Given the description of an element on the screen output the (x, y) to click on. 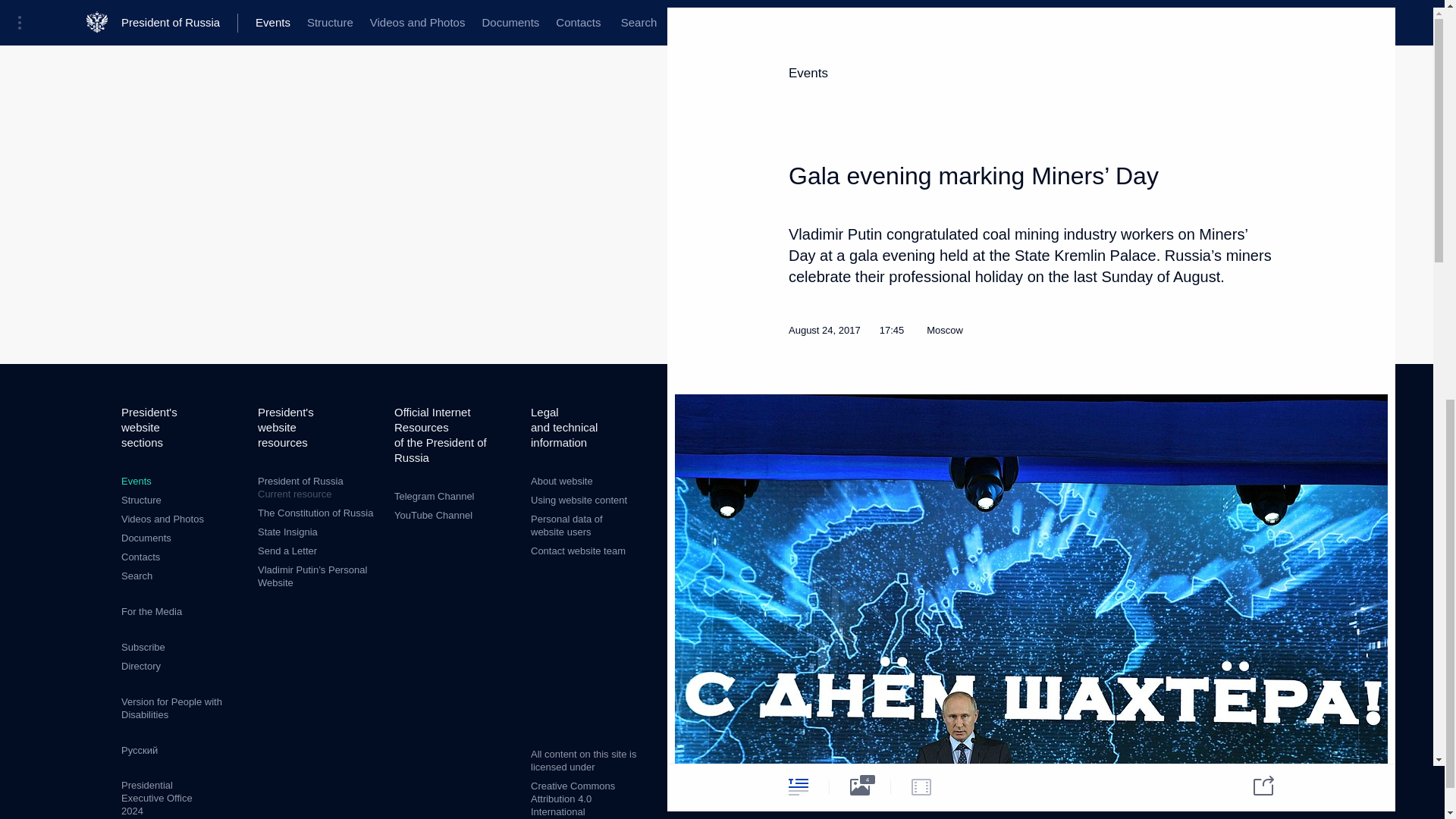
Videos and Photos (161, 518)
Subscribe (142, 646)
Creative Commons Attribution 4.0 International (572, 798)
Directory (140, 665)
State Insignia (287, 531)
Events (135, 480)
Telegram Channel (434, 496)
Documents (145, 537)
Personal data of website users (566, 525)
For the Media (151, 611)
